Given the description of an element on the screen output the (x, y) to click on. 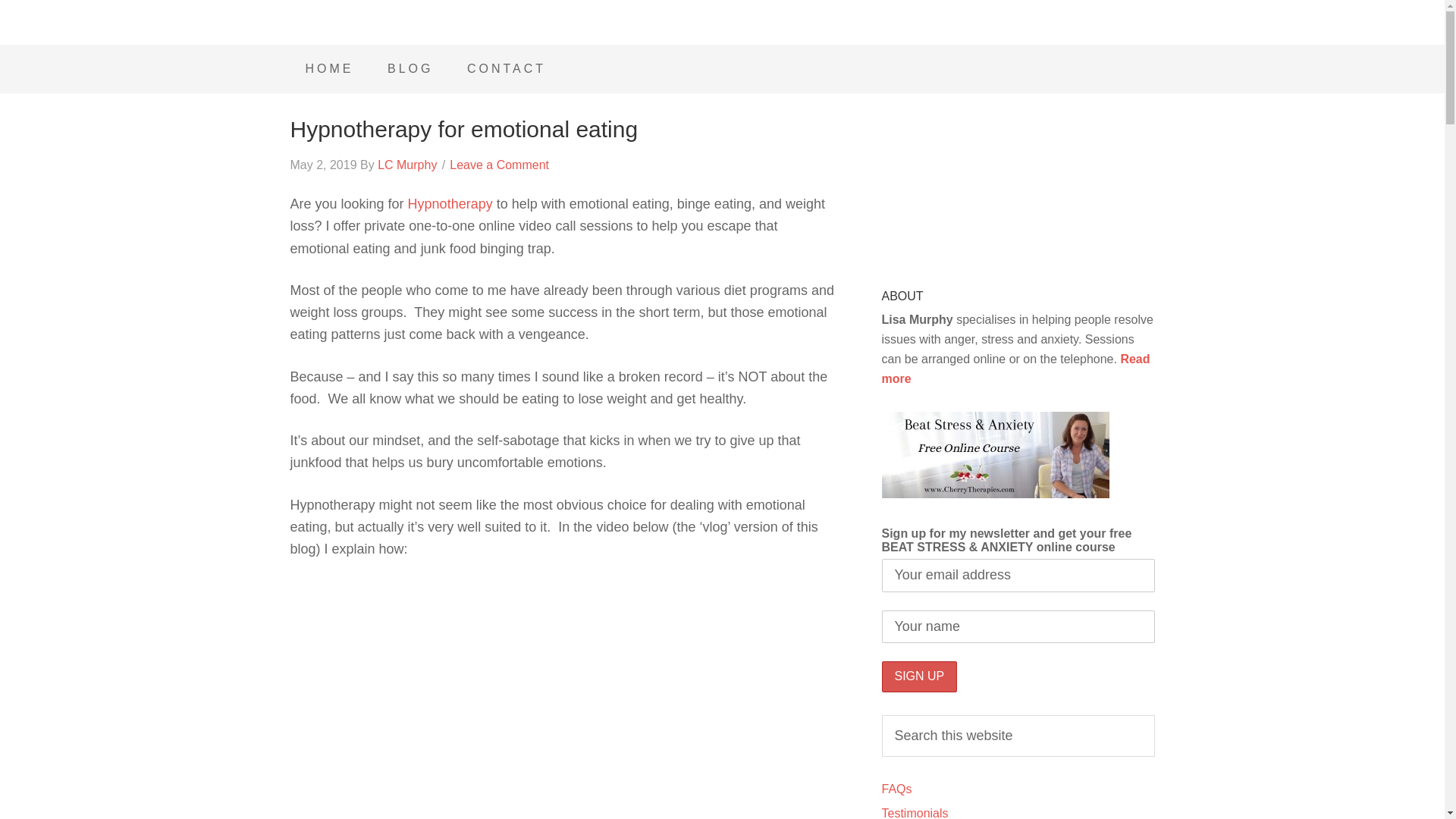
HOME (328, 69)
Bookings (505, 69)
Sign up (918, 676)
Testimonials (913, 812)
FAQs (895, 788)
Read more (1015, 368)
Hypnotherapy (450, 203)
BLOG (410, 69)
CONTACT (505, 69)
